Given the description of an element on the screen output the (x, y) to click on. 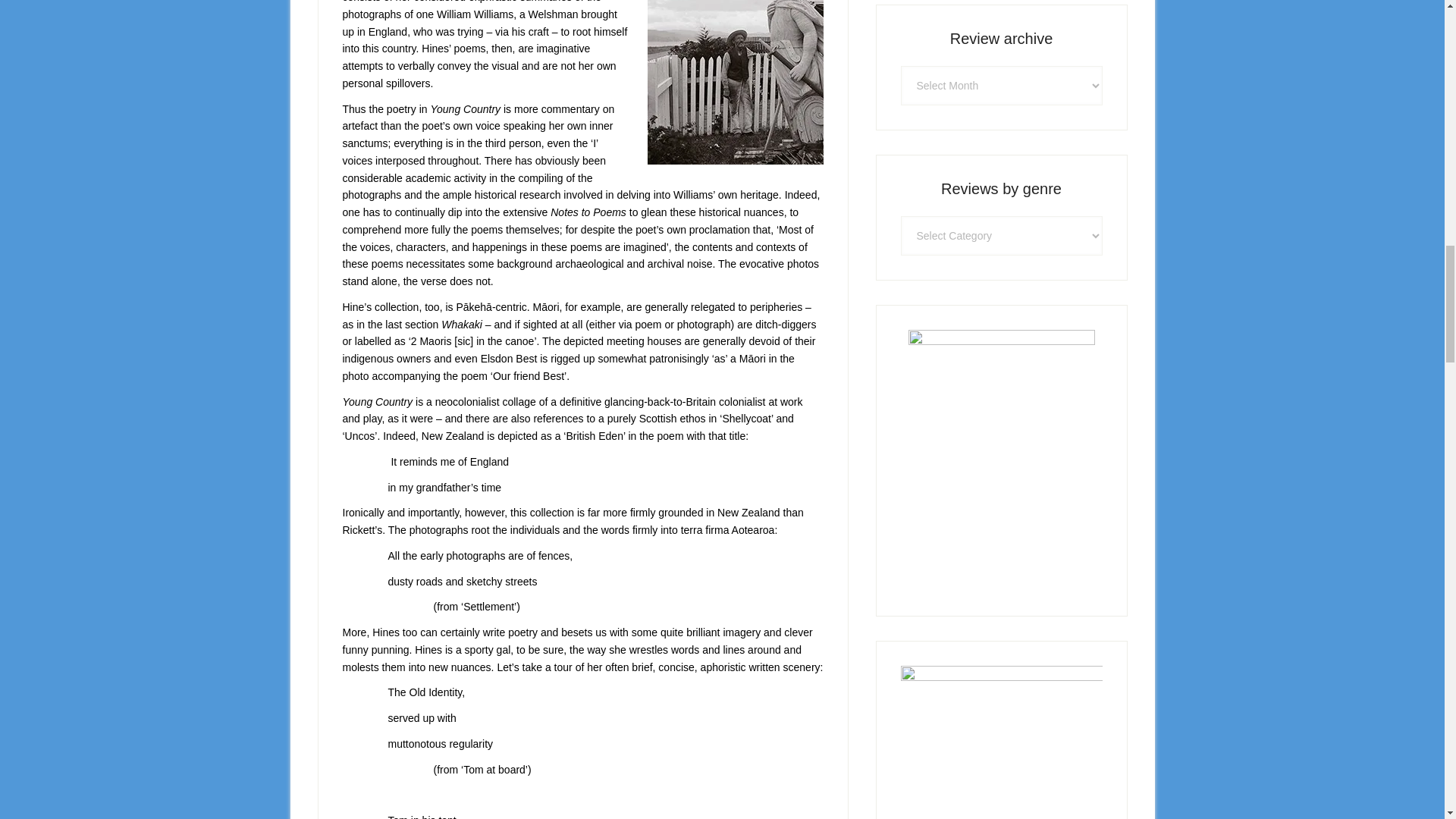
Charles Brasch Journals (1001, 742)
